Given the description of an element on the screen output the (x, y) to click on. 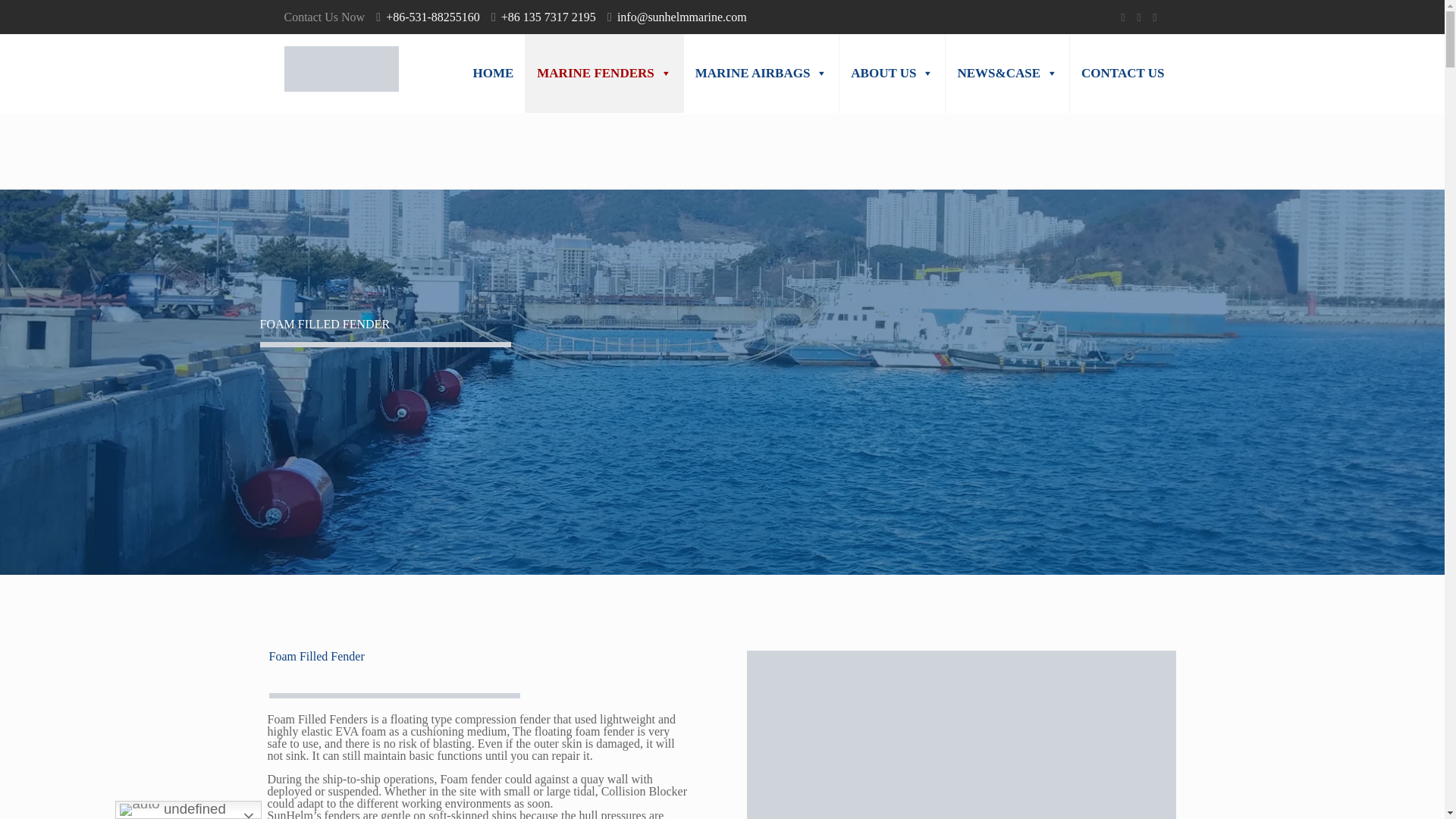
ABOUT US (892, 73)
Facebook (1123, 17)
MARINE AIRBAGS (762, 73)
SunHelm Marine (340, 68)
YouTube (1138, 17)
MARINE FENDERS (603, 73)
LinkedIn (1155, 17)
